Given the description of an element on the screen output the (x, y) to click on. 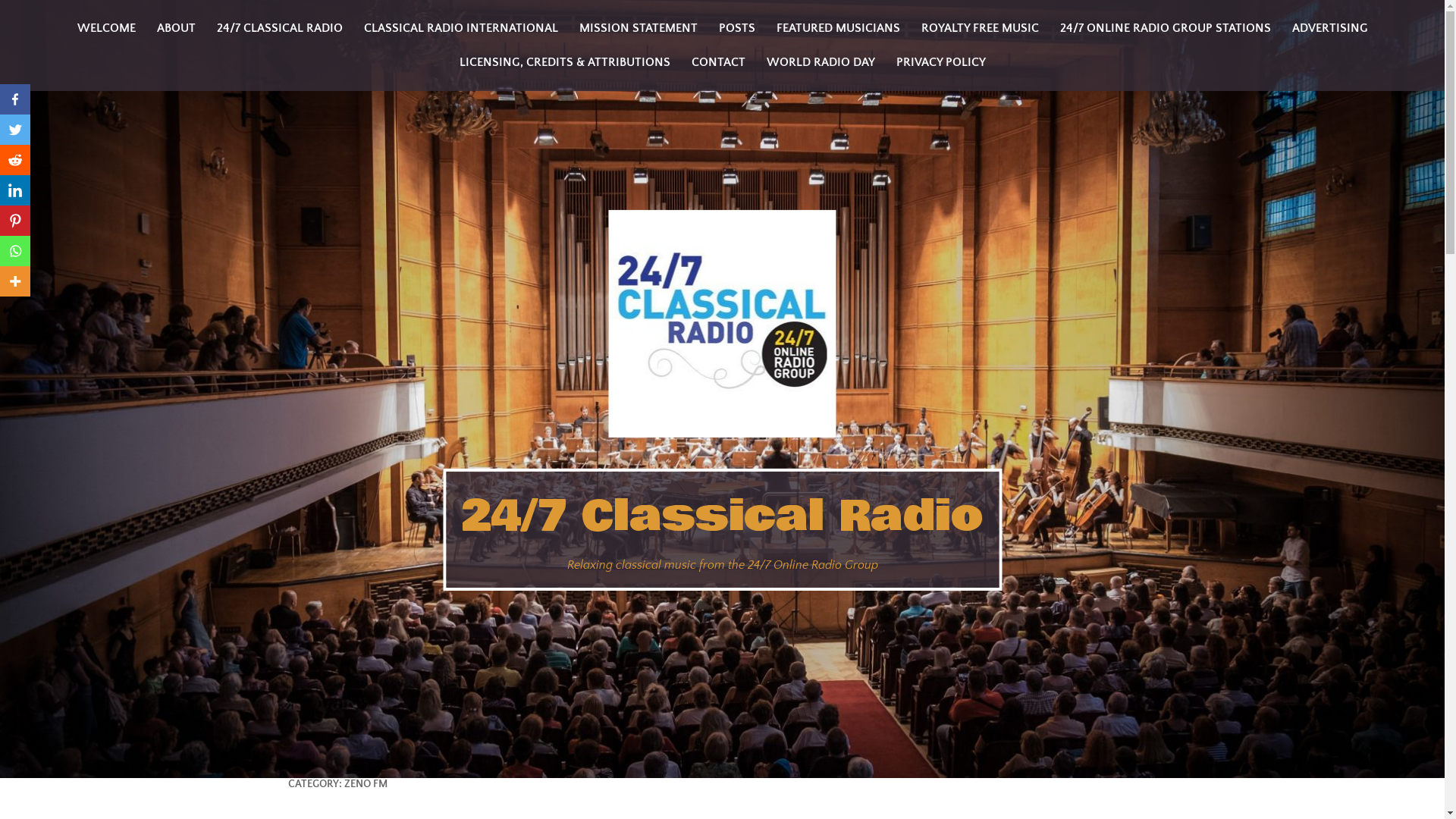
CLASSICAL RADIO INTERNATIONAL Element type: text (460, 28)
WORLD RADIO DAY Element type: text (819, 62)
PRIVACY POLICY Element type: text (940, 62)
CONTACT Element type: text (718, 62)
ABOUT Element type: text (175, 28)
Hide Element type: hover (6, 310)
MISSION STATEMENT Element type: text (638, 28)
Search Element type: text (44, 16)
Facebook Element type: hover (15, 99)
24/7 ONLINE RADIO GROUP STATIONS Element type: text (1165, 28)
Reddit Element type: hover (15, 159)
24/7 CLASSICAL RADIO Element type: text (279, 28)
ROYALTY FREE MUSIC Element type: text (979, 28)
24/7 Classical Radio Element type: text (722, 516)
WELCOME Element type: text (106, 28)
ADVERTISING Element type: text (1330, 28)
Twitter Element type: hover (15, 129)
POSTS Element type: text (736, 28)
Linkedin Element type: hover (15, 190)
FEATURED MUSICIANS Element type: text (838, 28)
Whatsapp Element type: hover (15, 250)
LICENSING, CREDITS & ATTRIBUTIONS Element type: text (564, 62)
More Element type: hover (15, 281)
Pinterest Element type: hover (15, 220)
